Given the description of an element on the screen output the (x, y) to click on. 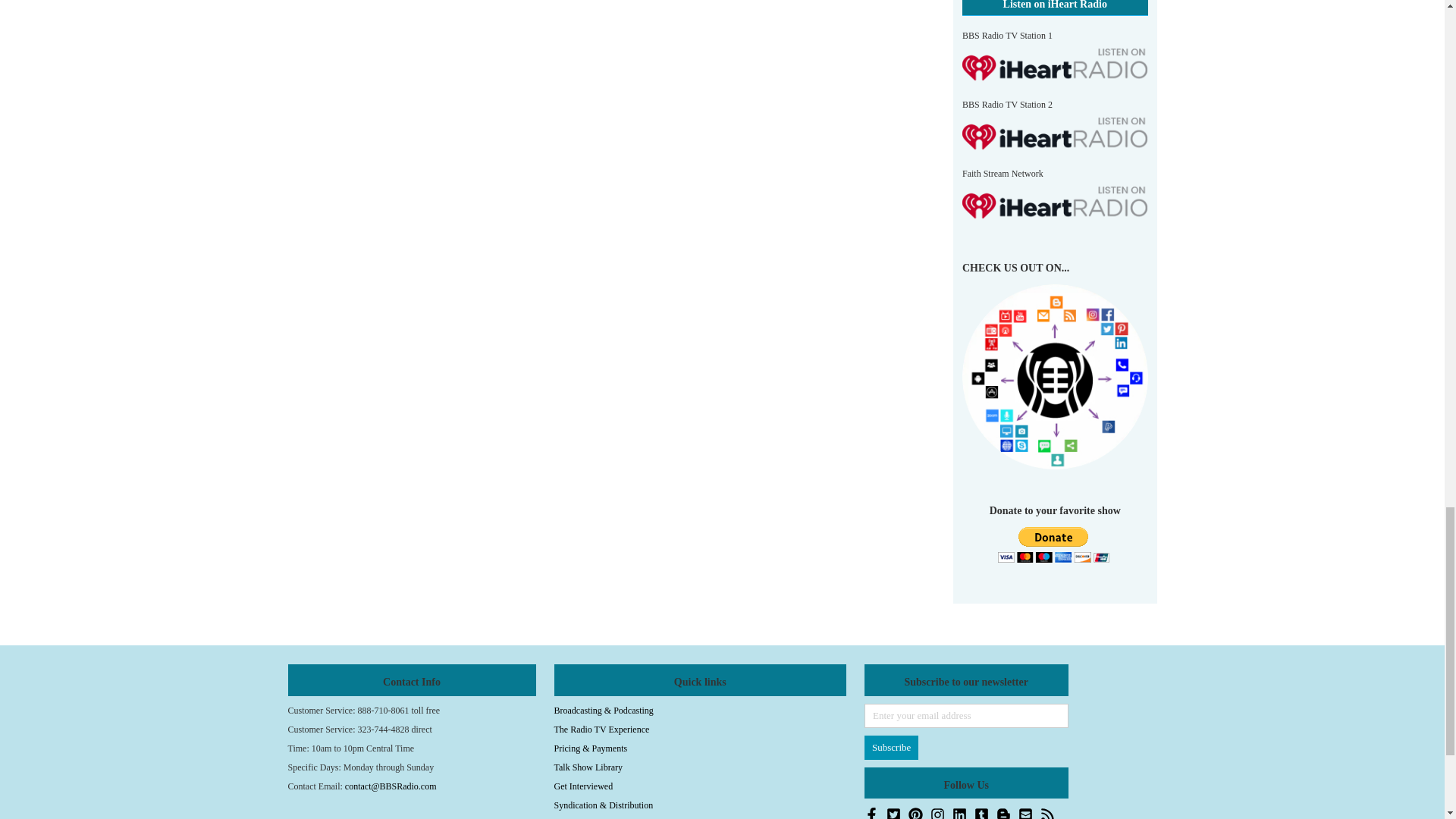
Subscribe (891, 747)
